Given the description of an element on the screen output the (x, y) to click on. 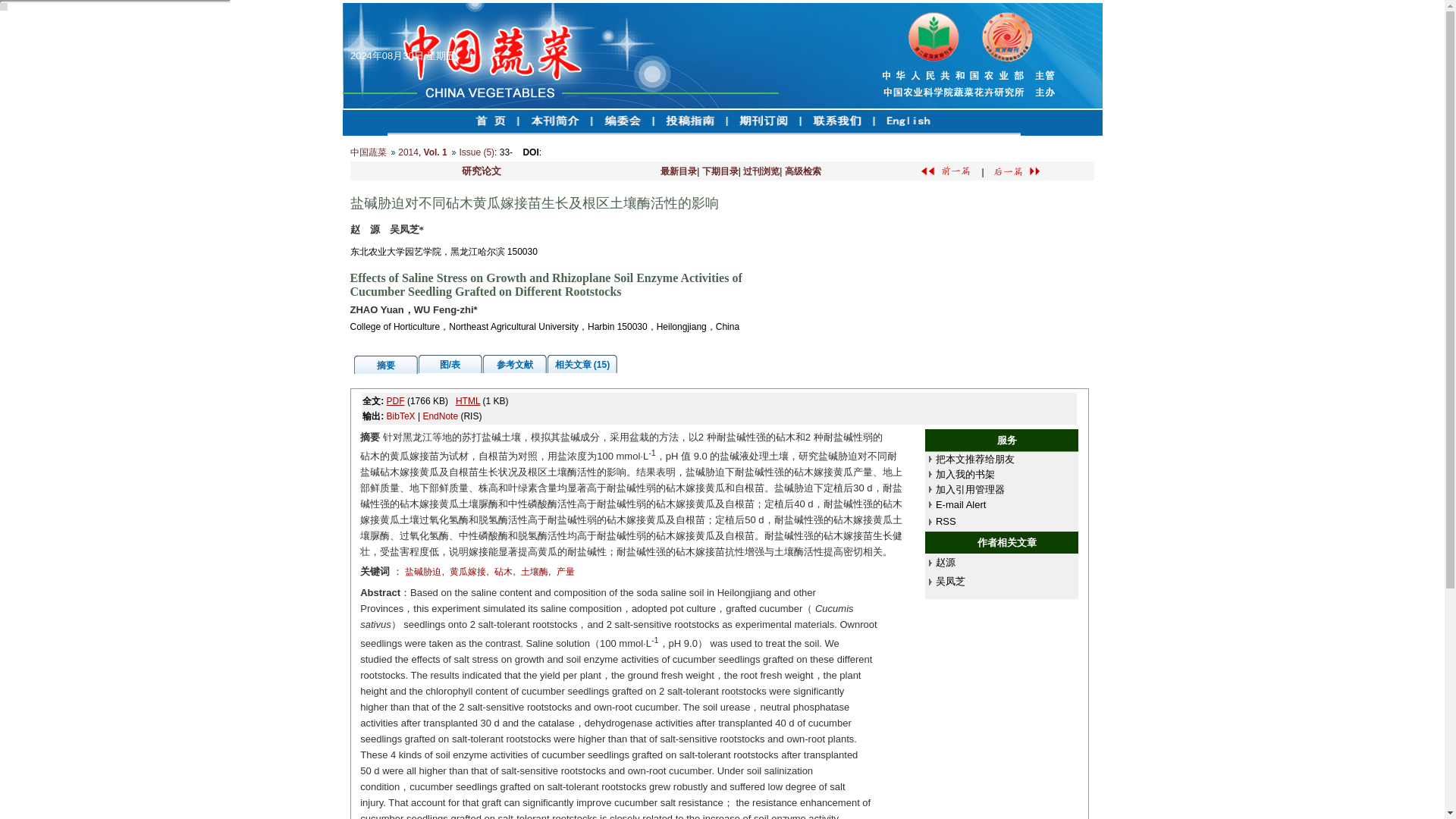
Vol. 1 (434, 152)
PDF (395, 400)
E-mail Alert (960, 504)
HTML (467, 400)
BibTeX (400, 416)
2014 (408, 152)
EndNote (440, 416)
RSS (946, 521)
